Given the description of an element on the screen output the (x, y) to click on. 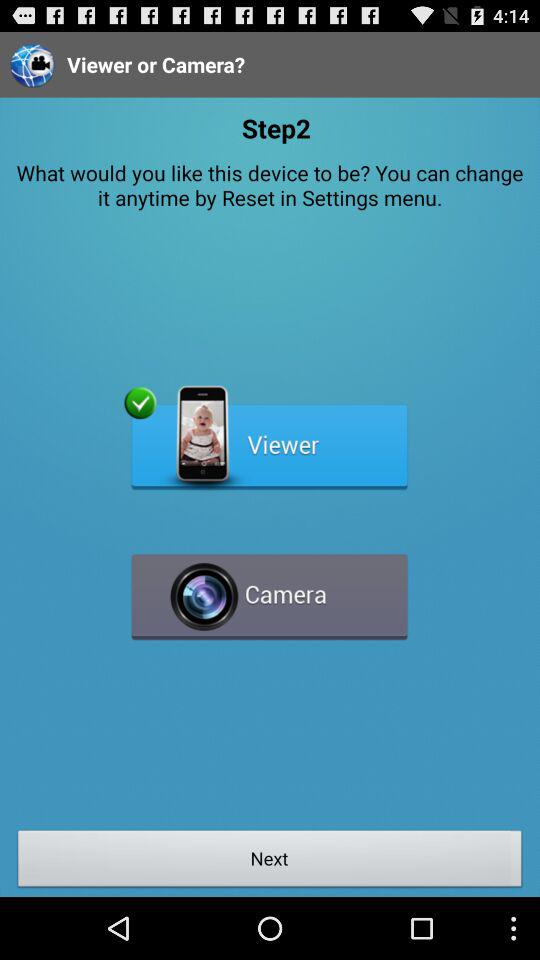
view in recording in progress (269, 438)
